Given the description of an element on the screen output the (x, y) to click on. 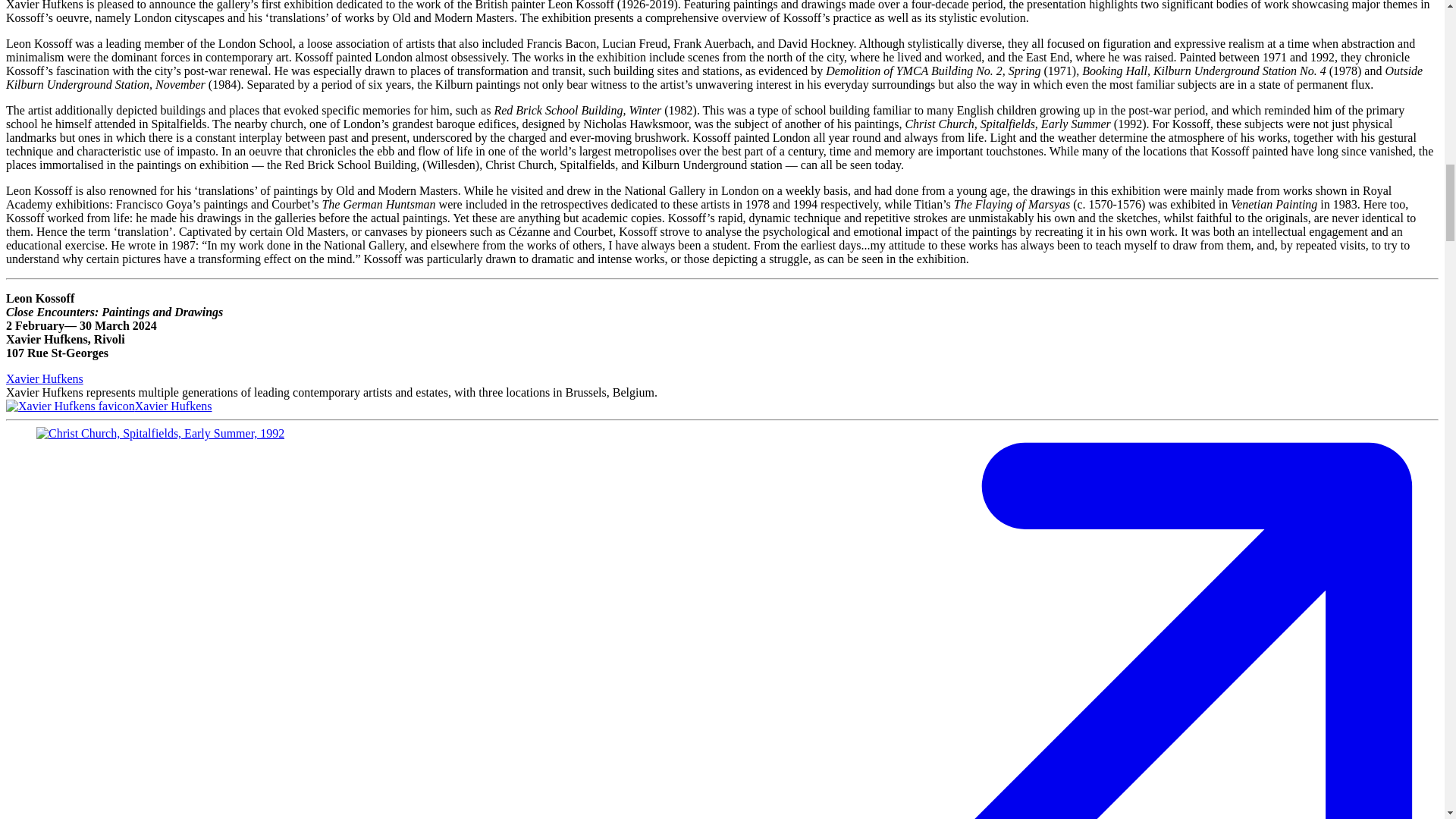
Xavier Hufkens (108, 405)
Xavier Hufkens (43, 378)
Christ Church, Spitalfields, Early Summer, 1992 (159, 433)
